Given the description of an element on the screen output the (x, y) to click on. 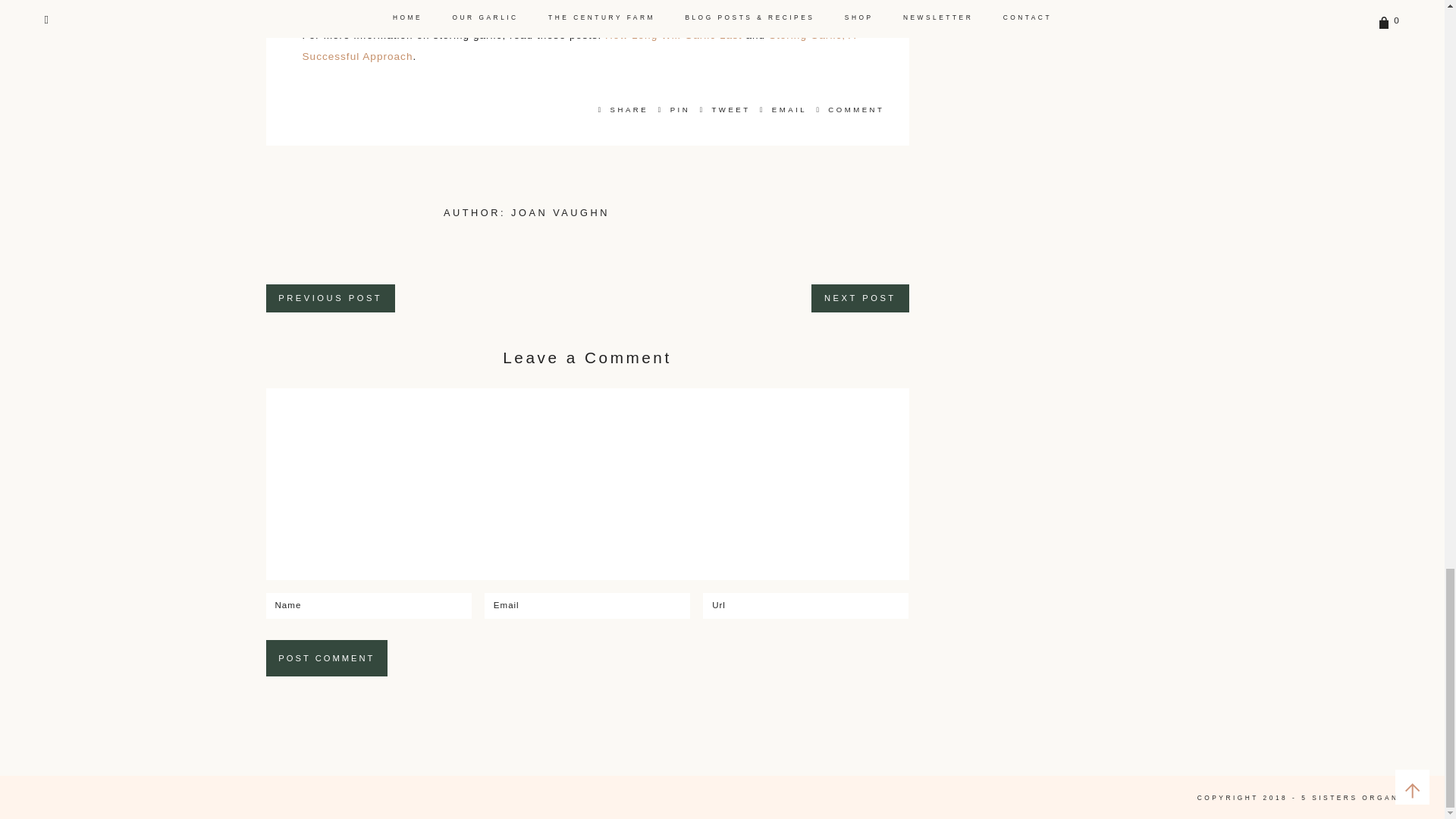
Post Comment (325, 657)
EMAIL (783, 109)
NEXT POST (860, 298)
TWEET (725, 109)
Post Comment (325, 657)
Twitter (725, 109)
SHARE (623, 109)
Storing Garlic, A Successful Approach (578, 45)
PIN (674, 109)
How Long Will Garlic Last (673, 34)
COMMENT (847, 109)
PREVIOUS POST (329, 298)
Facebook (623, 109)
